Given the description of an element on the screen output the (x, y) to click on. 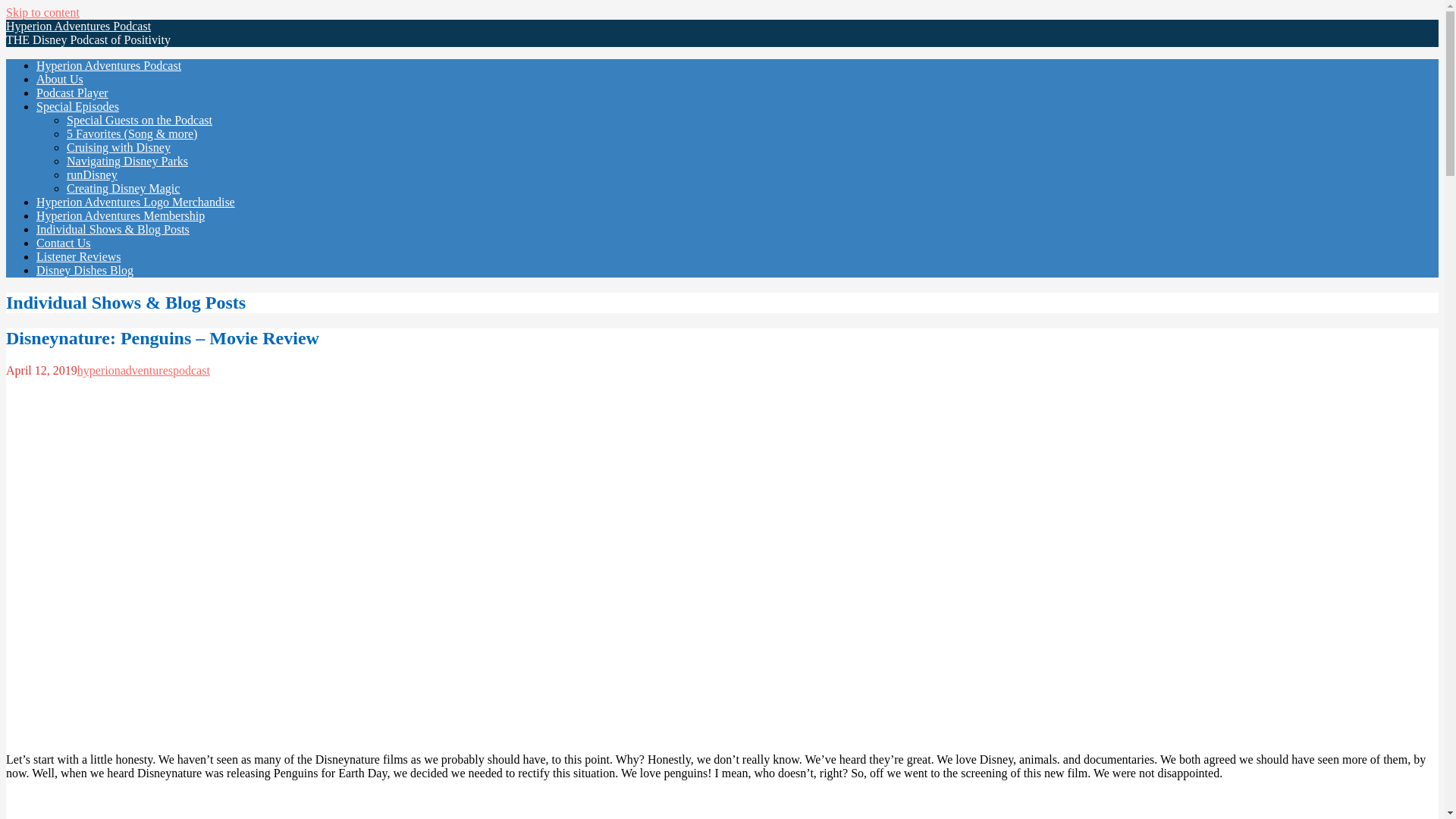
Podcast Player (71, 92)
Skip to content (42, 11)
Contact Us (63, 242)
runDisney (91, 174)
Disney Dishes Blog (84, 269)
Special Episodes (77, 106)
Posts by hyperionadventurespodcast (143, 369)
Hyperion Adventures Podcast (108, 65)
hyperionadventurespodcast (143, 369)
Hyperion Adventures Logo Merchandise (135, 201)
Hyperion Adventures Podcast (78, 25)
Cruising with Disney (118, 146)
Navigating Disney Parks (126, 160)
Special Guests on the Podcast (139, 119)
Listener Reviews (78, 256)
